Given the description of an element on the screen output the (x, y) to click on. 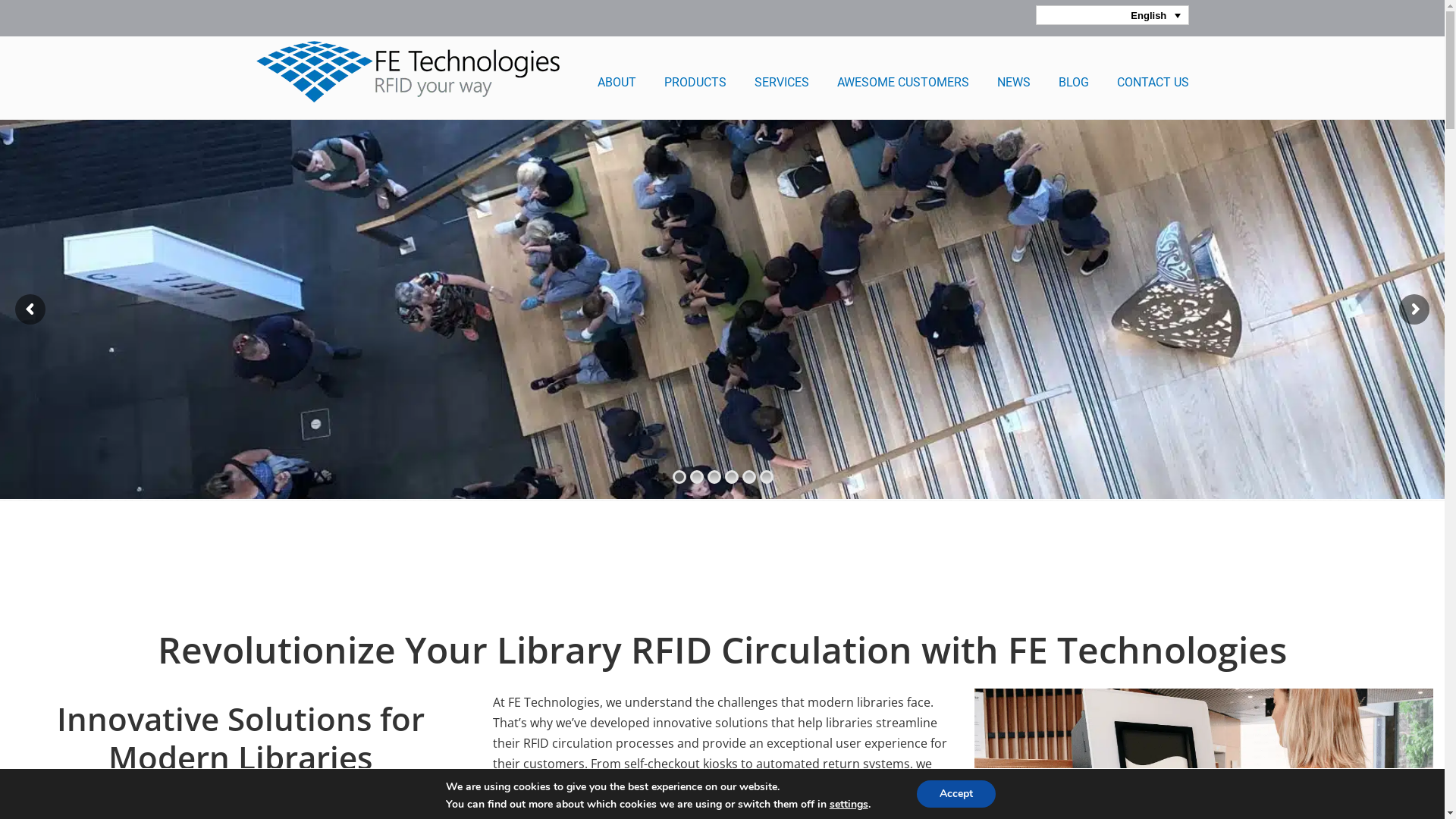
Chatbot Element type: hover (1383, 757)
English Element type: text (1112, 15)
Accept Element type: text (955, 793)
SERVICES Element type: text (780, 82)
BLOG Element type: text (1073, 82)
settings Element type: text (848, 804)
ABOUT Element type: text (616, 82)
CONTACT US Element type: text (1152, 82)
NEWS Element type: text (1012, 82)
FE Technologies Element type: text (407, 71)
PRODUCTS Element type: text (695, 82)
AWESOME CUSTOMERS Element type: text (903, 82)
